Given the description of an element on the screen output the (x, y) to click on. 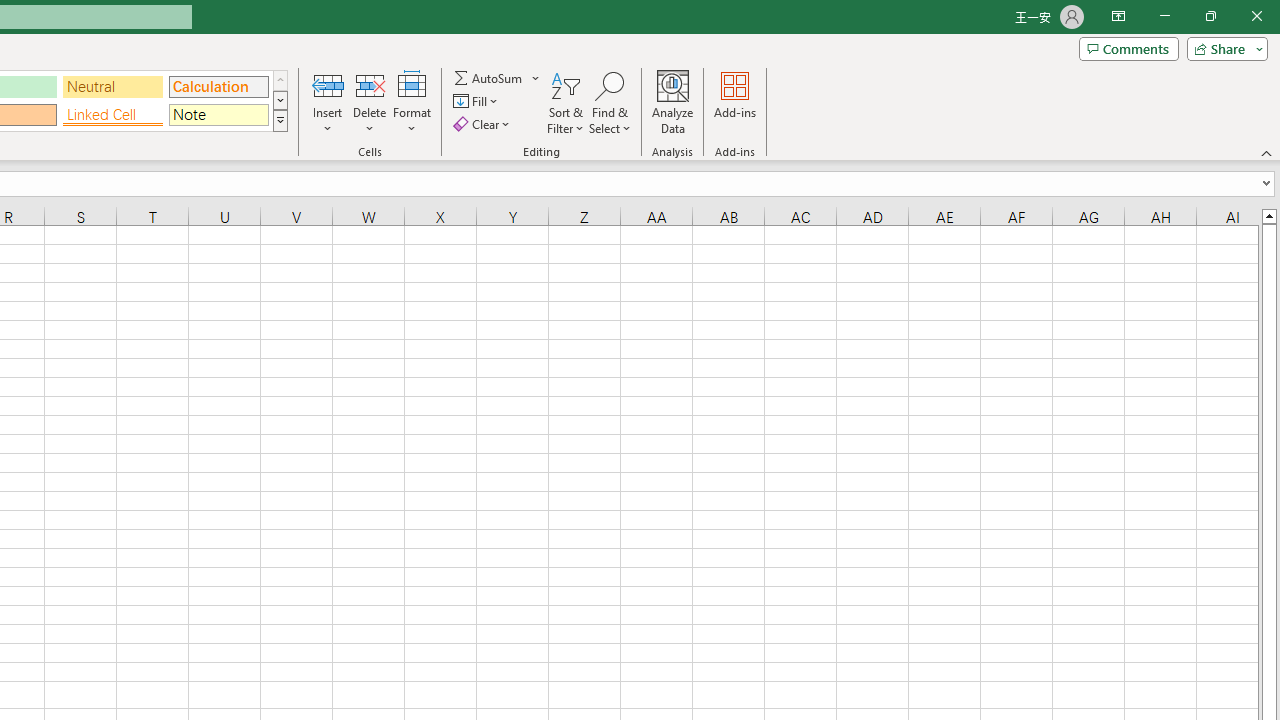
Collapse the Ribbon (1267, 152)
